Given the description of an element on the screen output the (x, y) to click on. 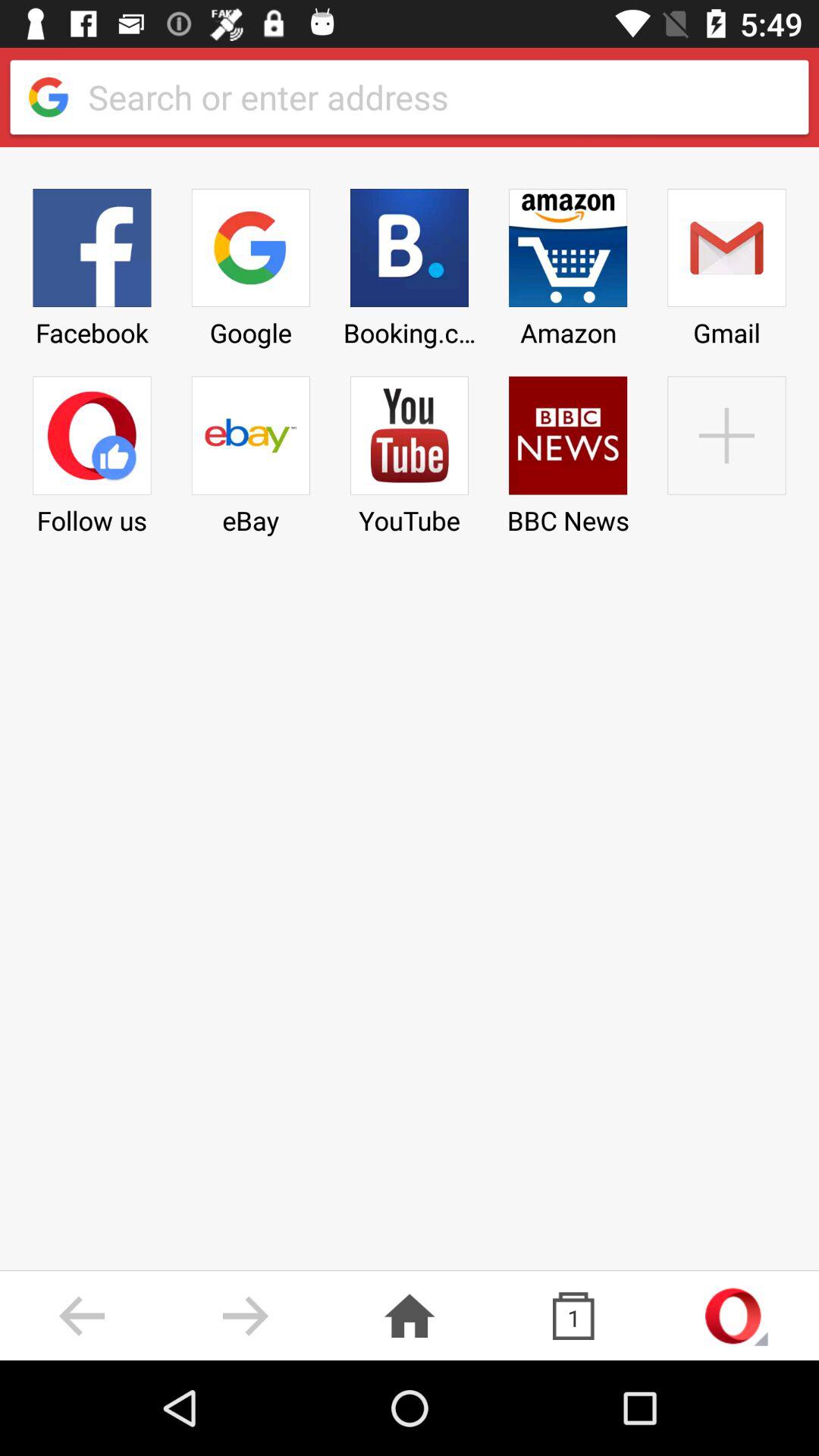
swipe to bbc news item (568, 450)
